Given the description of an element on the screen output the (x, y) to click on. 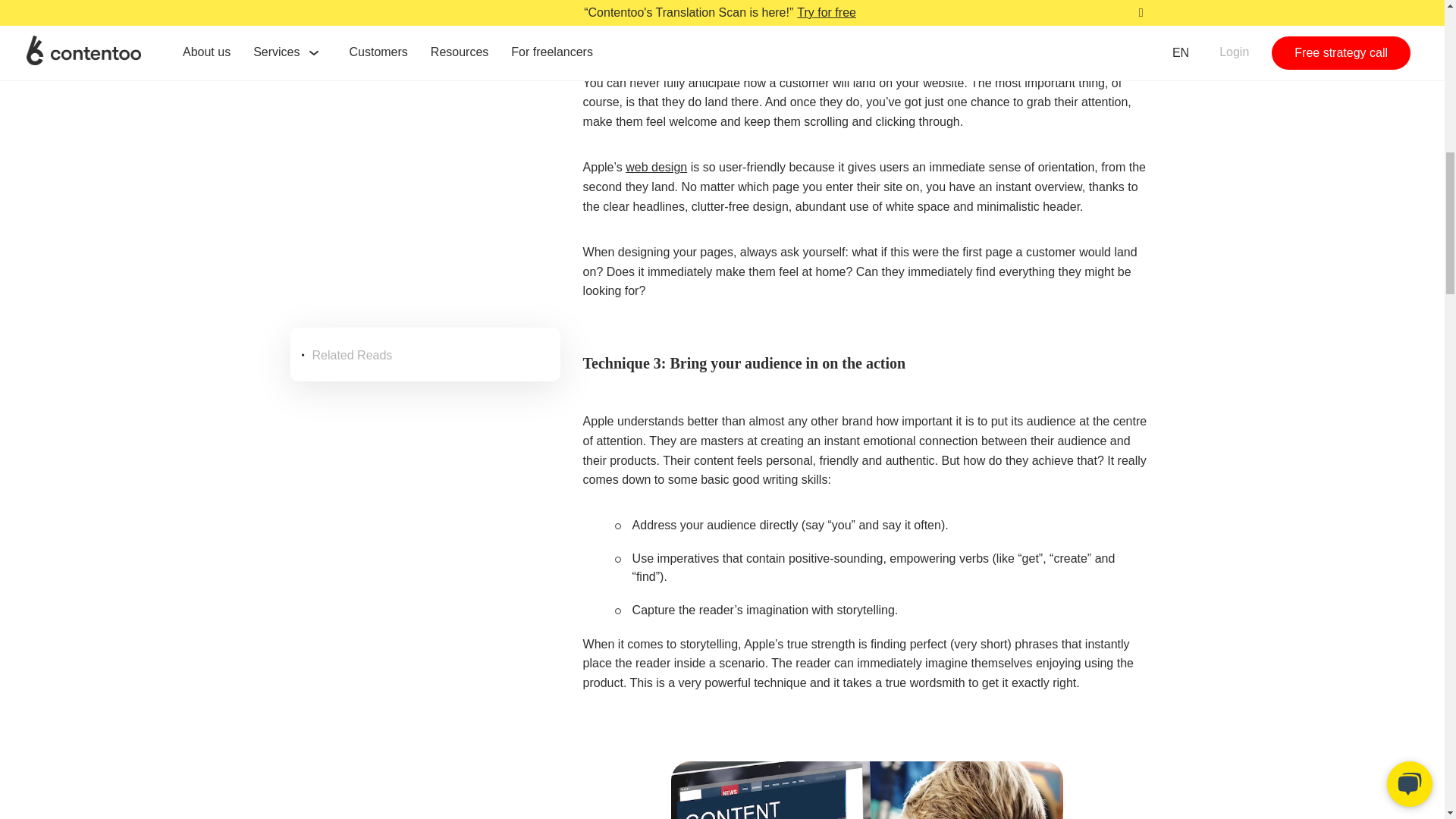
Design (656, 166)
web design (656, 166)
